Given the description of an element on the screen output the (x, y) to click on. 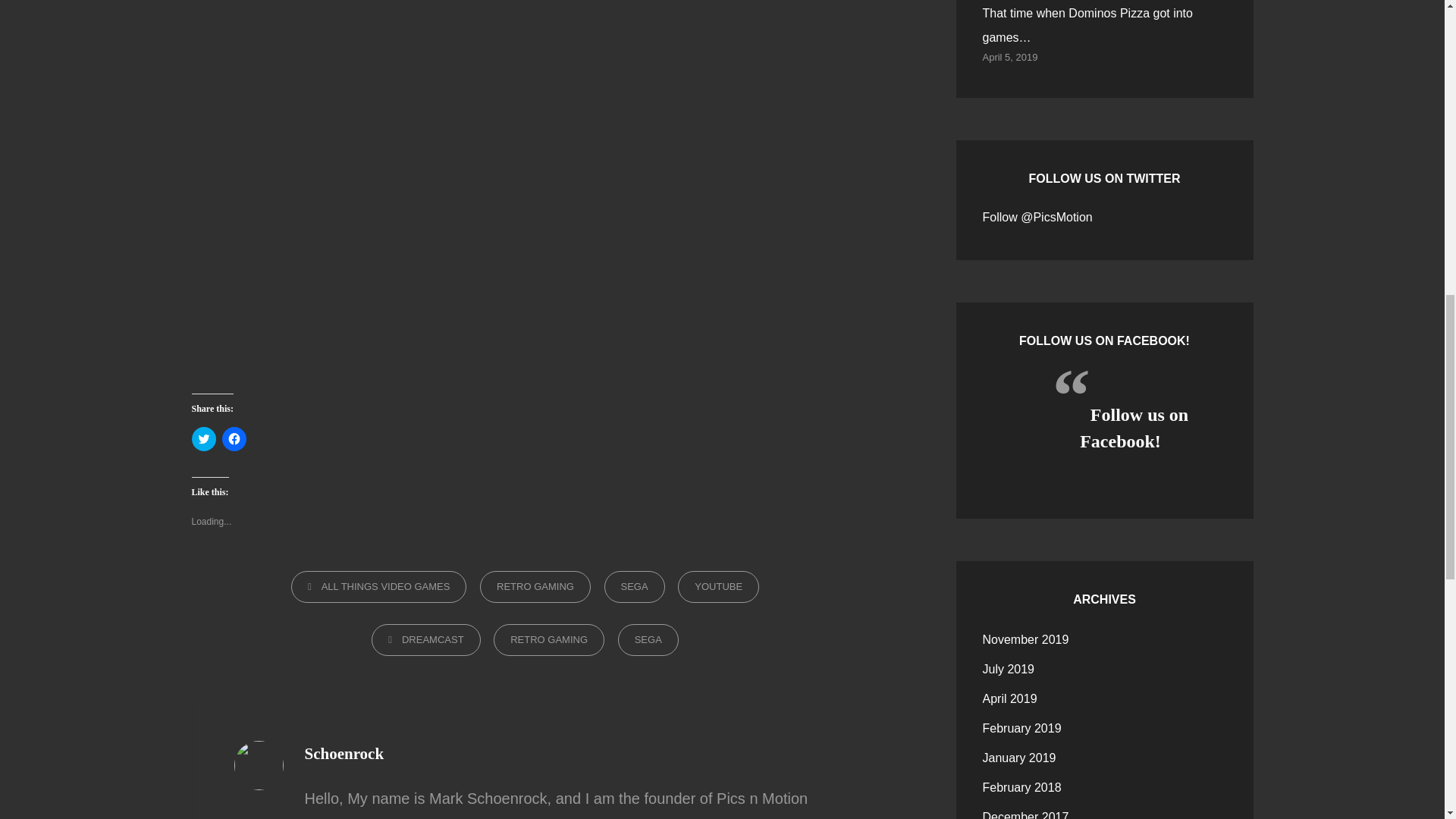
YOUTUBE (718, 586)
Click to share on Twitter (202, 438)
Click to share on Facebook (233, 438)
SEGA (647, 640)
SEGA (634, 586)
ALL THINGS VIDEO GAMES (379, 586)
RETRO GAMING (535, 586)
RETRO GAMING (548, 640)
DREAMCAST (425, 640)
